Given the description of an element on the screen output the (x, y) to click on. 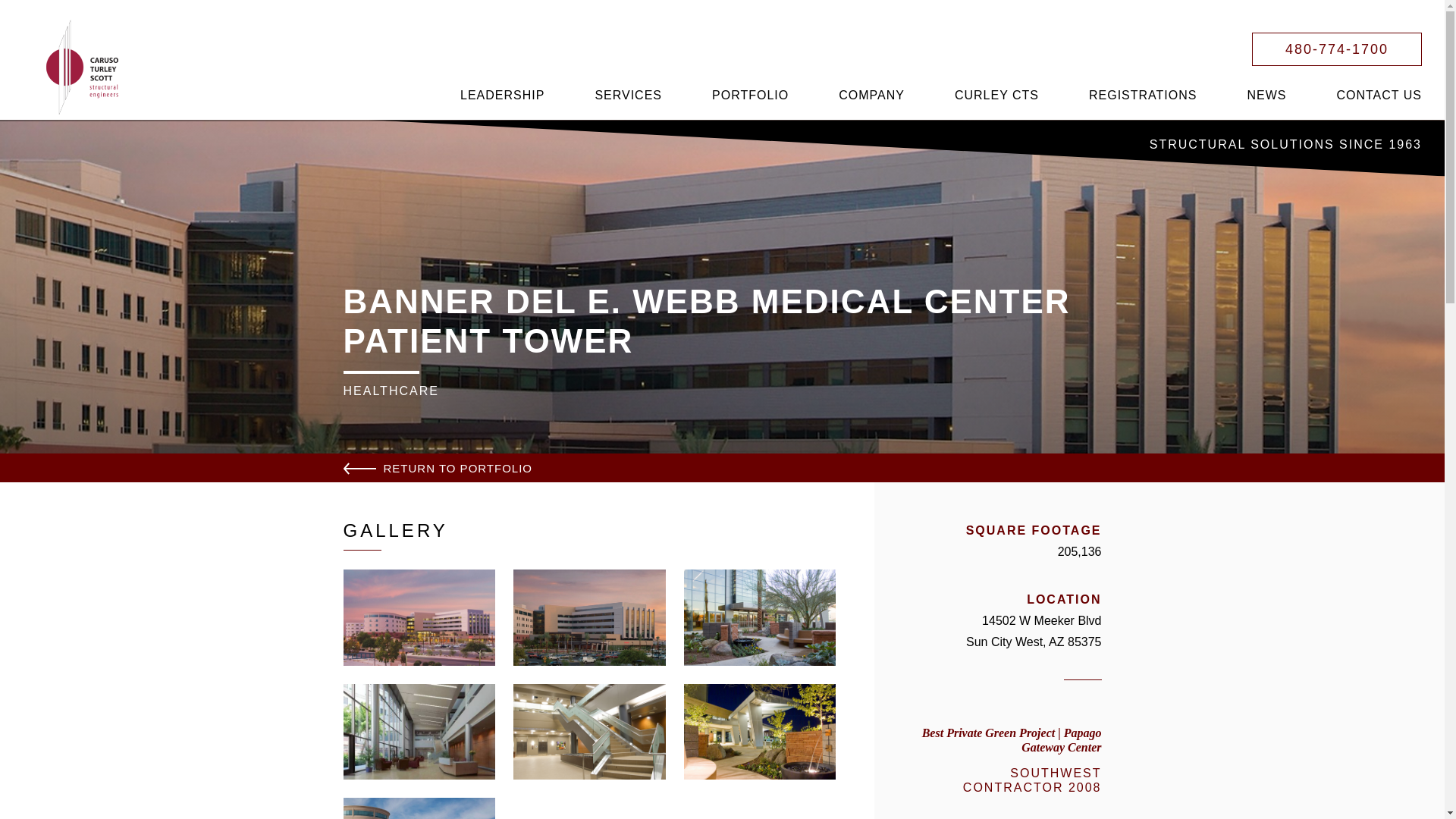
COMPANY (871, 95)
REGISTRATIONS (1143, 95)
HEALTHCARE (390, 391)
480-774-1700 (1337, 49)
NEWS (1266, 95)
PORTFOLIO (750, 95)
RETURN TO PORTFOLIO (437, 468)
LEADERSHIP (502, 95)
SERVICES (628, 95)
CURLEY CTS (997, 95)
